Given the description of an element on the screen output the (x, y) to click on. 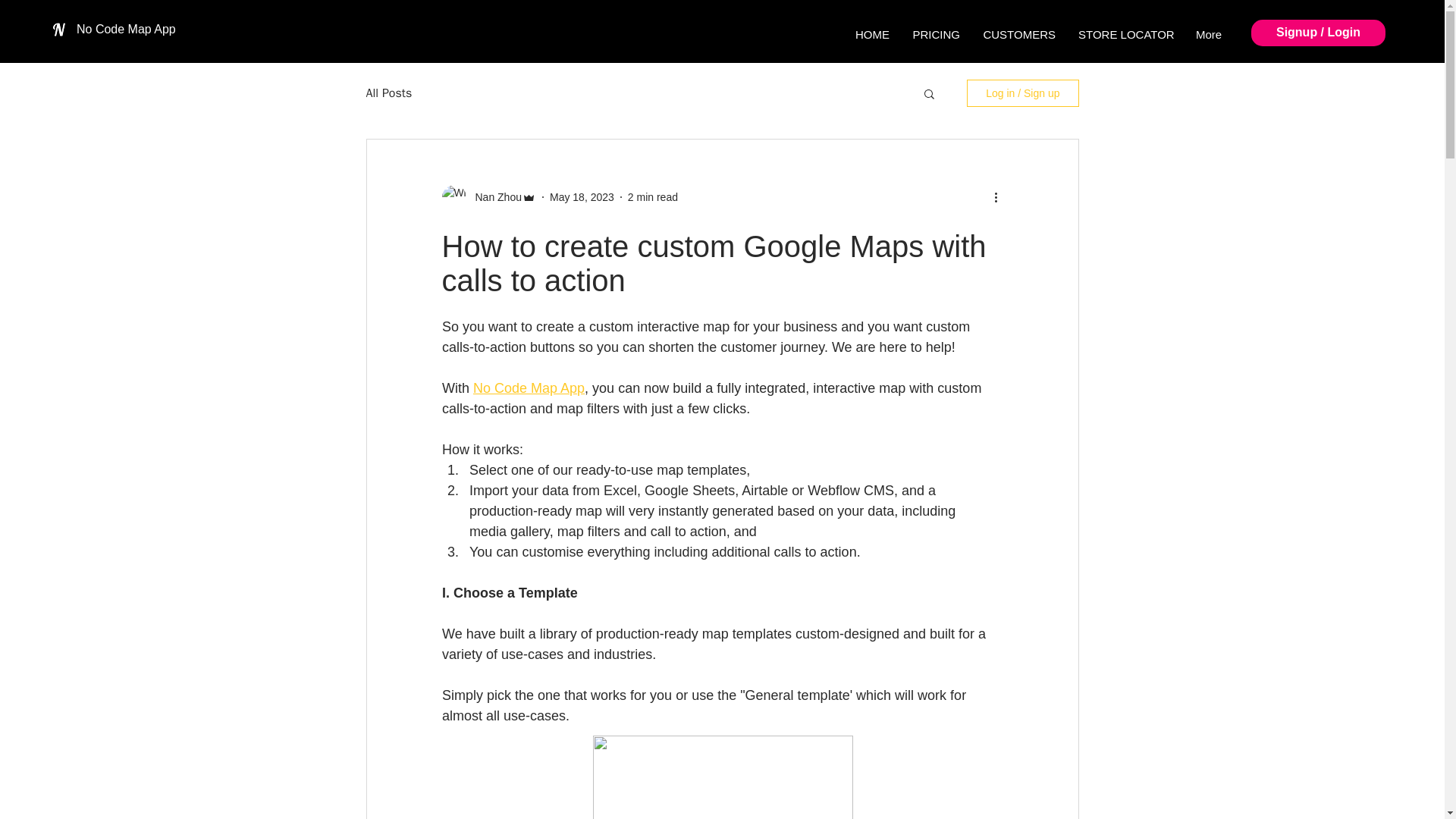
PRICING (936, 33)
CUSTOMERS (1019, 33)
Nan Zhou (493, 197)
STORE LOCATOR (1126, 33)
HOME (872, 33)
No Code Map App (126, 29)
May 18, 2023 (582, 196)
No Code Map App (529, 387)
All Posts (388, 92)
2 min read (652, 196)
